Given the description of an element on the screen output the (x, y) to click on. 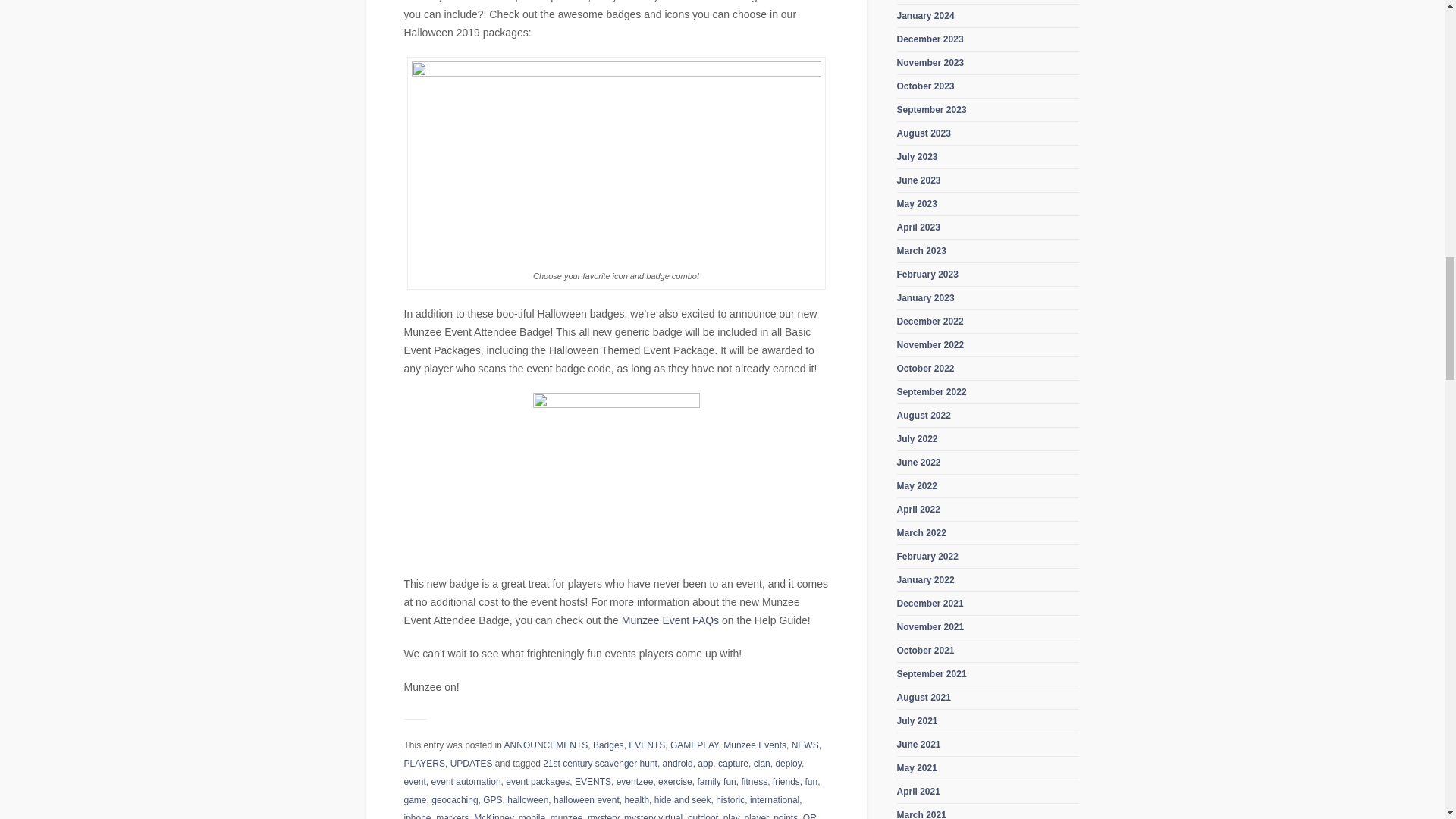
Munzee Events (754, 745)
ANNOUNCEMENTS (545, 745)
Munzee Event FAQs (670, 620)
GAMEPLAY (694, 745)
NEWS (805, 745)
Badges (608, 745)
PLAYERS (423, 763)
UPDATES (471, 763)
EVENTS (646, 745)
